Given the description of an element on the screen output the (x, y) to click on. 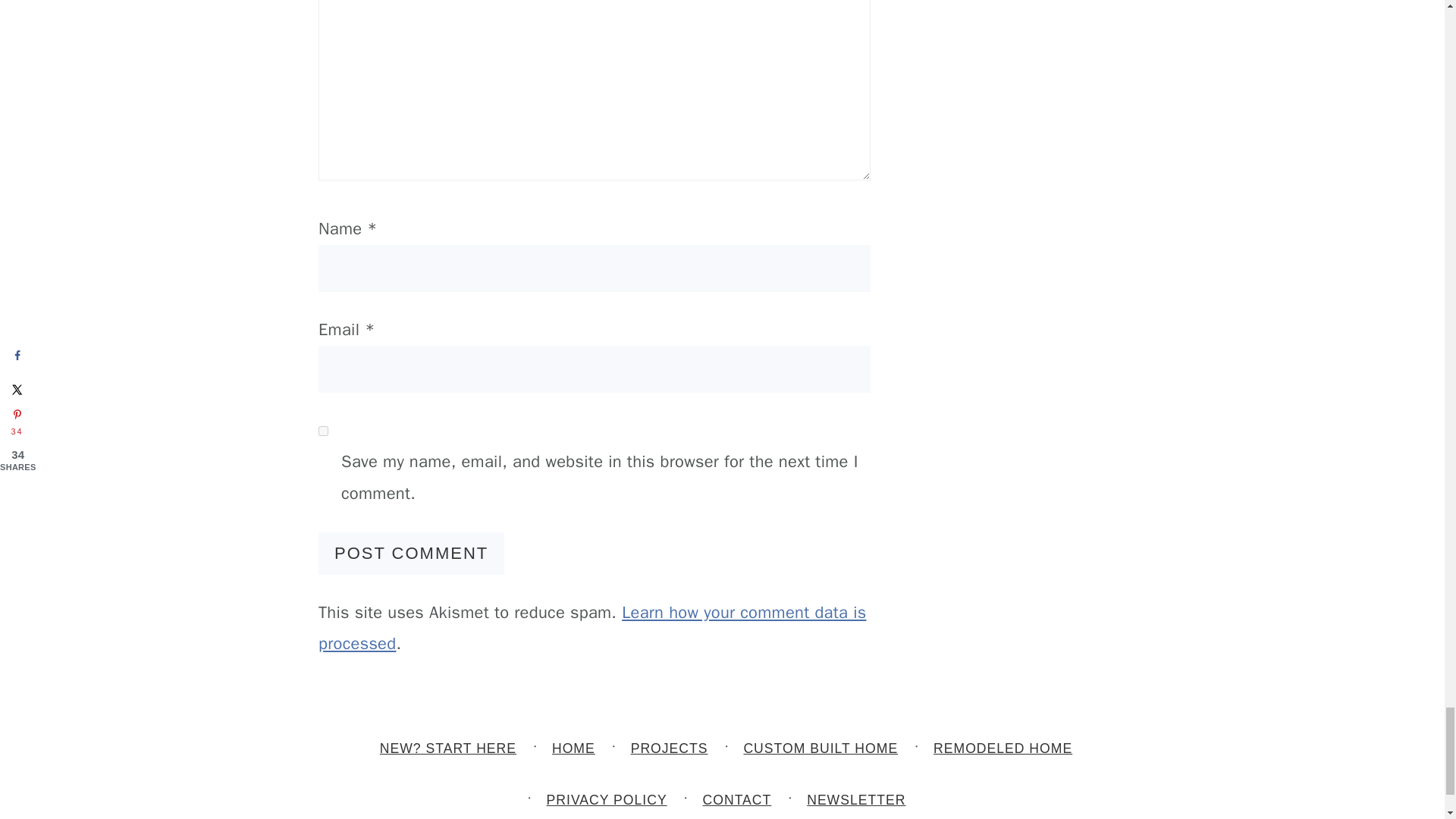
Post Comment (410, 553)
yes (323, 430)
